Given the description of an element on the screen output the (x, y) to click on. 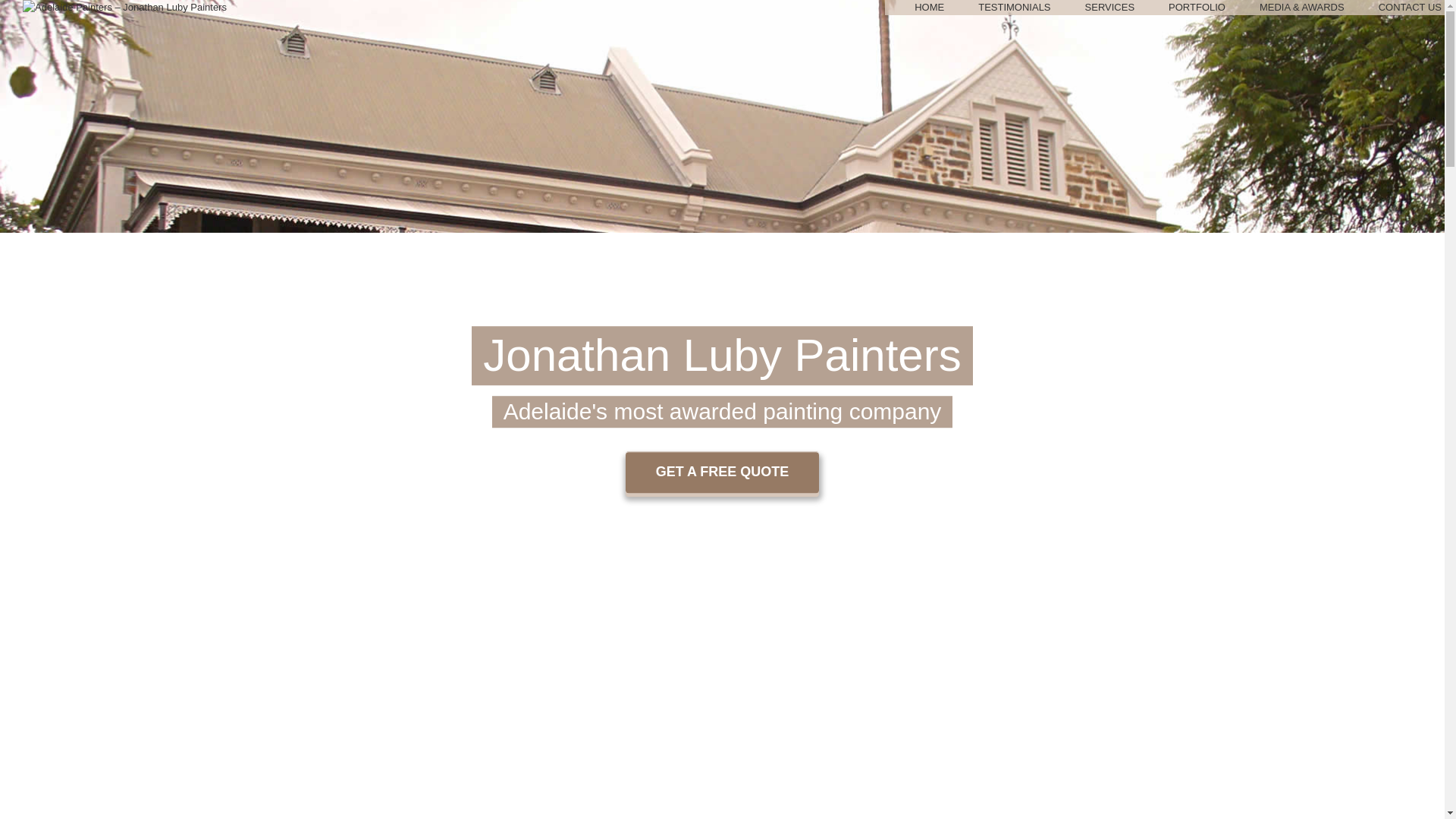
GET A FREE QUOTE Element type: text (722, 471)
HOME Element type: text (929, 7)
MEDIA & AWARDS Element type: text (1301, 7)
CONTACT US Element type: text (1409, 7)
PORTFOLIO Element type: text (1196, 7)
SERVICES Element type: text (1110, 7)
TESTIMONIALS Element type: text (1014, 7)
